Given the description of an element on the screen output the (x, y) to click on. 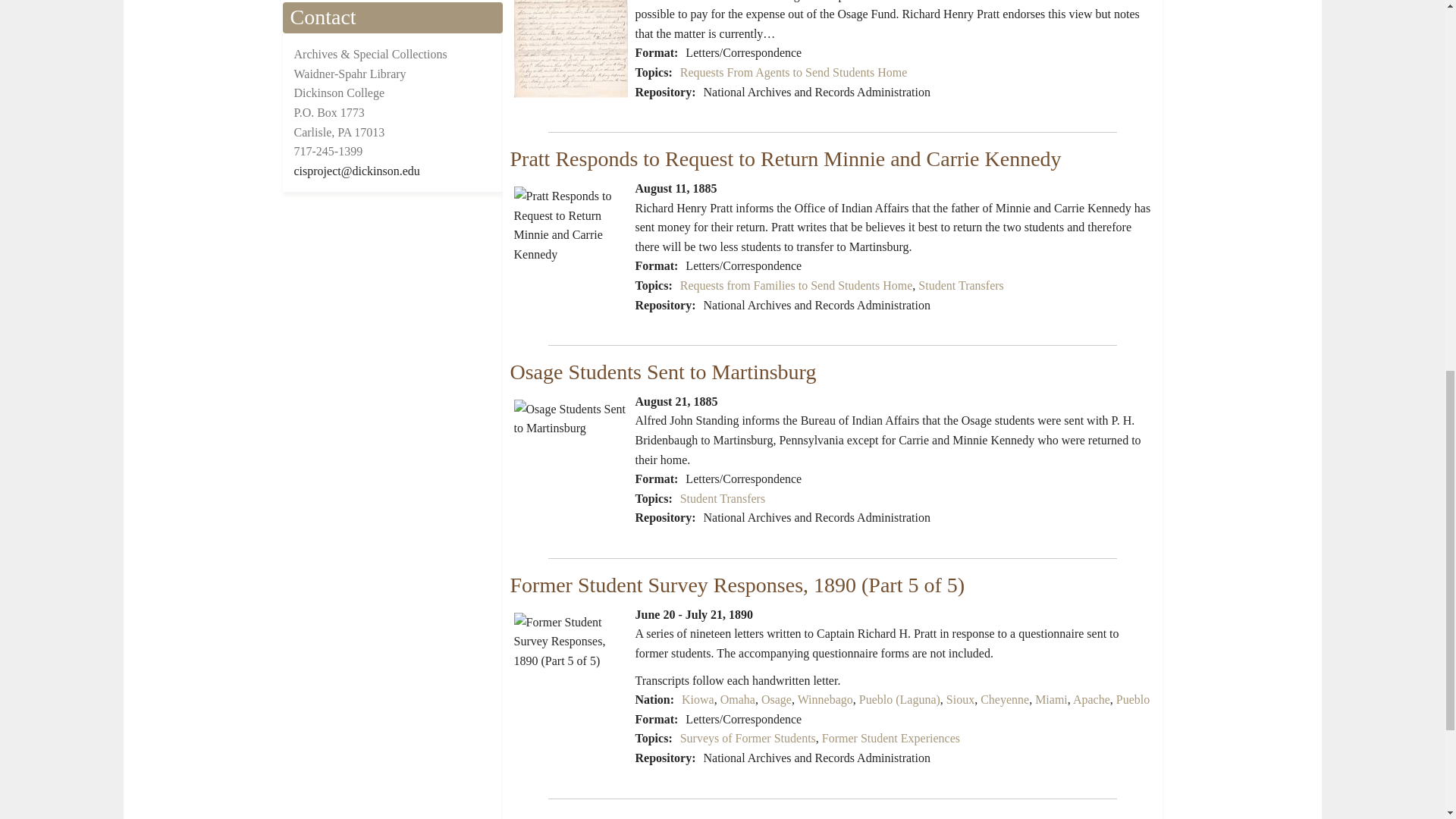
Osage (776, 698)
Return of Osage Students being Sent to Juniata College (570, 48)
Miami (1051, 698)
Student Transfers (722, 498)
Student Transfers (960, 285)
Requests From Agents to Send Students Home (793, 72)
Cheyenne (1004, 698)
Omaha (737, 698)
Requests from Families to Send Students Home (795, 285)
Sioux (960, 698)
